Given the description of an element on the screen output the (x, y) to click on. 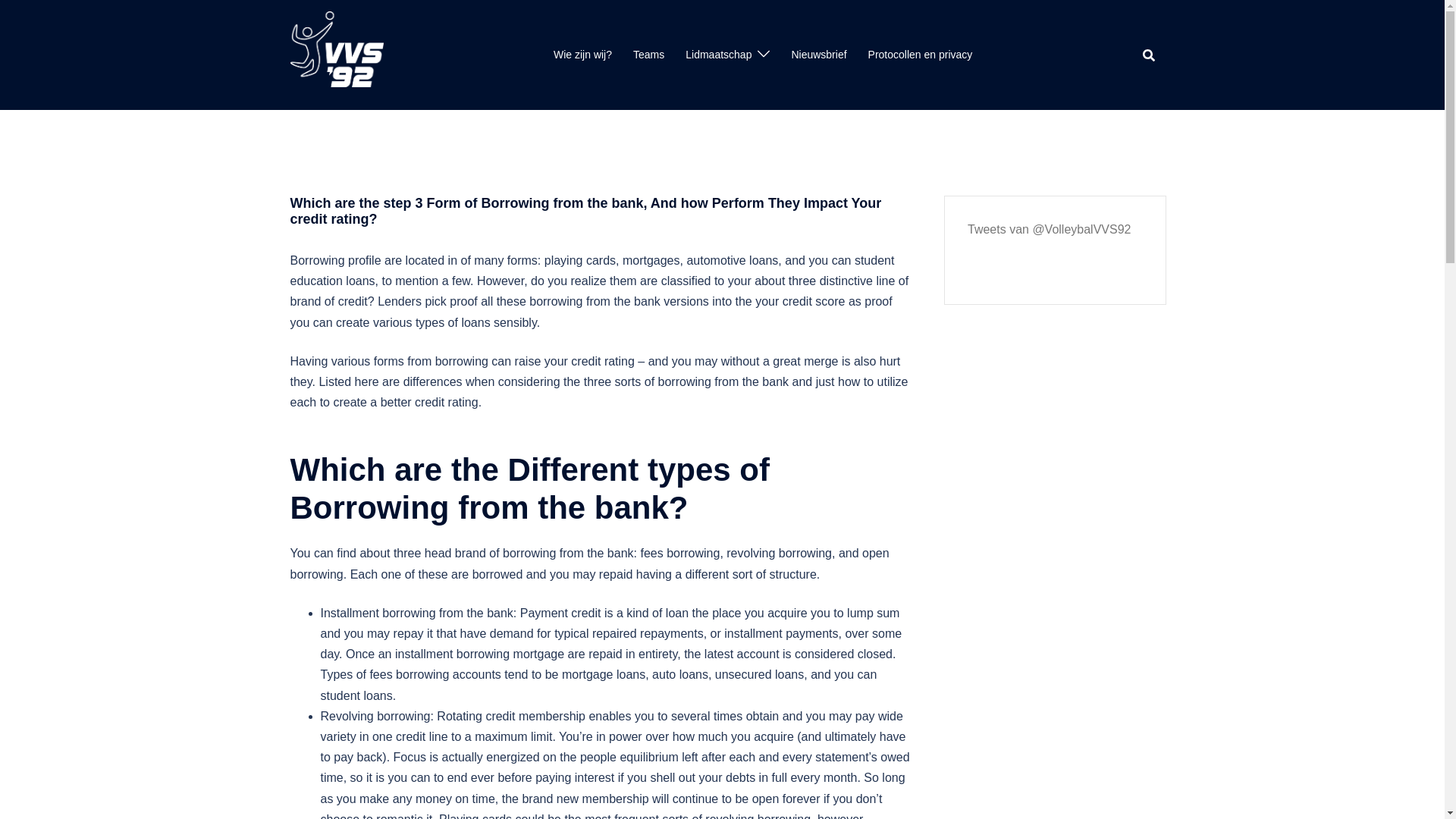
VVS'92 (335, 53)
Protocollen en privacy (919, 54)
Teams (648, 54)
Nieuwsbrief (817, 54)
Wie zijn wij? (582, 54)
Lidmaatschap (718, 54)
